Given the description of an element on the screen output the (x, y) to click on. 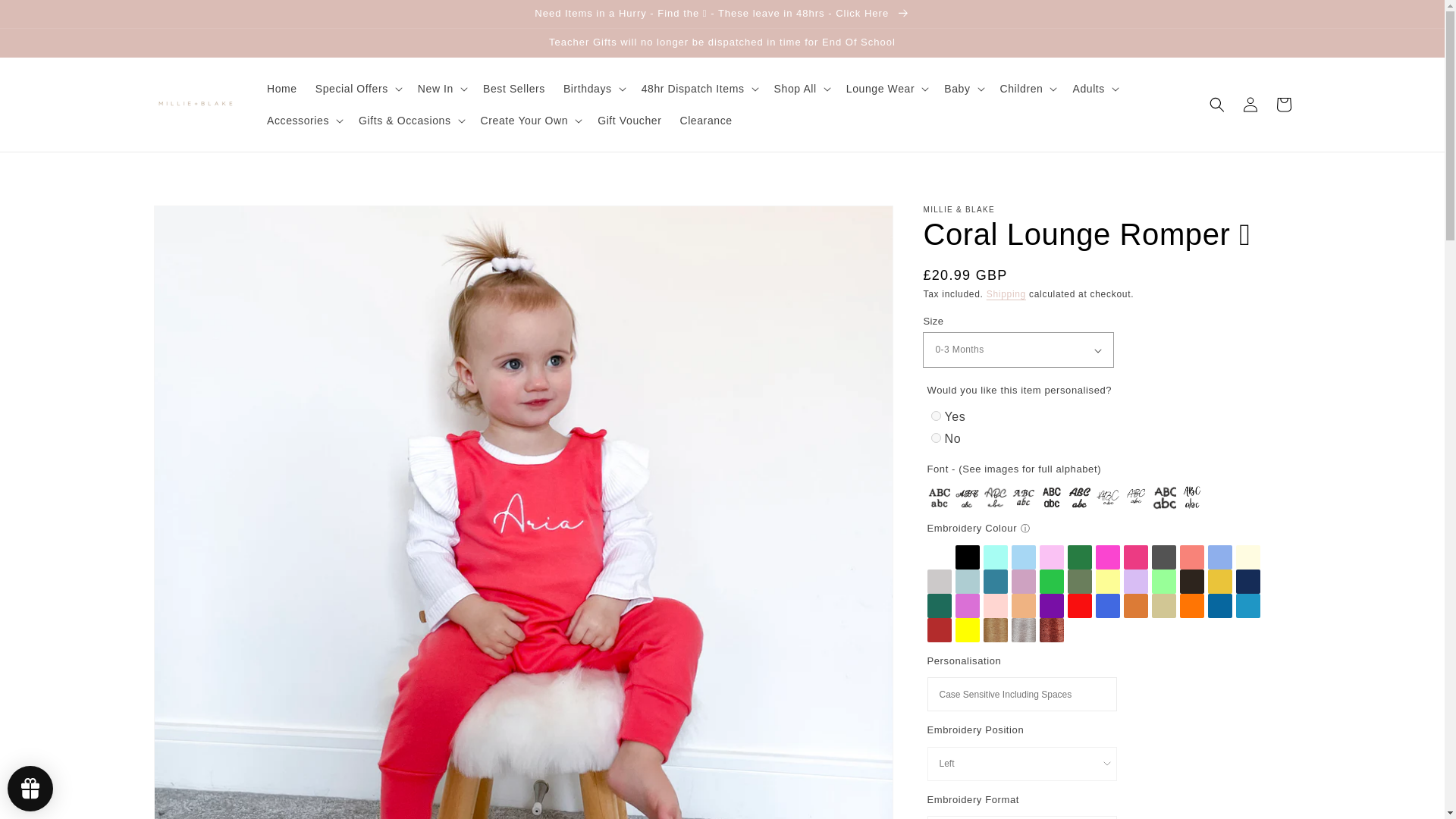
Skip to content (45, 16)
No (935, 438)
Yes (935, 415)
